Given the description of an element on the screen output the (x, y) to click on. 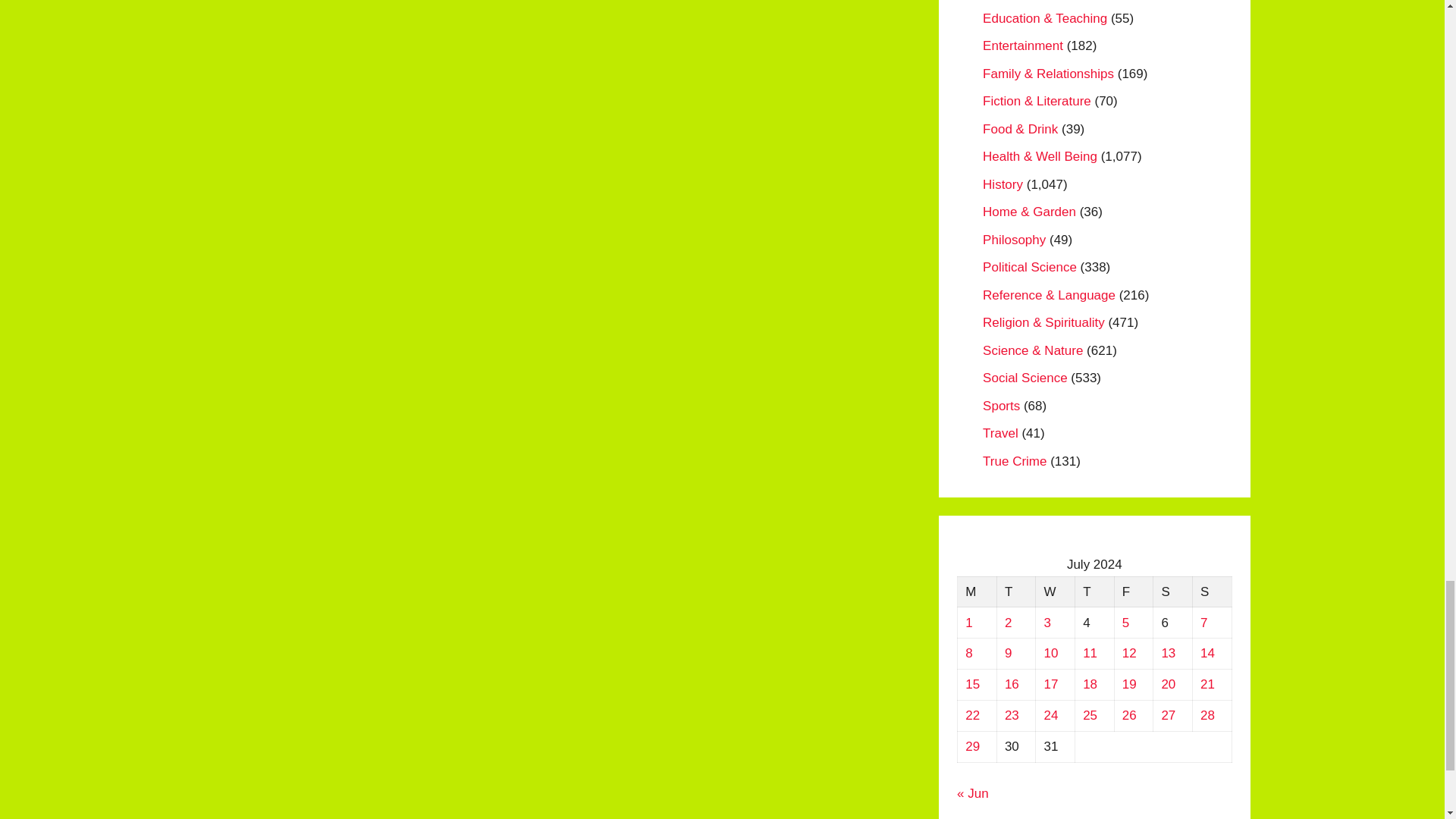
Monday (977, 591)
Saturday (1172, 591)
Sunday (1211, 591)
Wednesday (1055, 591)
Tuesday (1015, 591)
Friday (1133, 591)
Thursday (1093, 591)
